Given the description of an element on the screen output the (x, y) to click on. 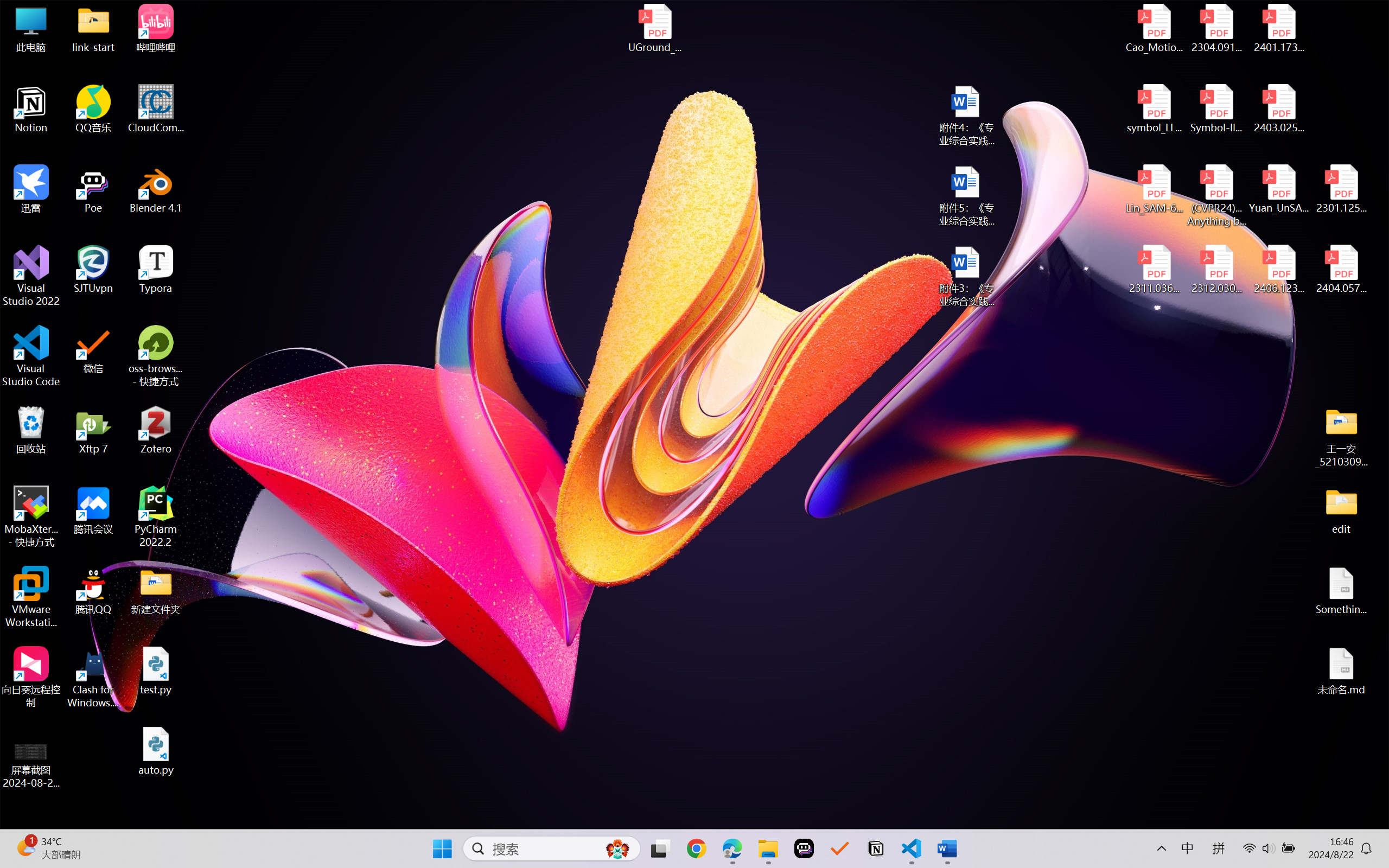
Visual Studio Code (31, 355)
2304.09121v3.pdf (1216, 28)
auto.py (156, 751)
2301.12597v3.pdf (1340, 189)
(CVPR24)Matching Anything by Segmenting Anything.pdf (1216, 195)
Google Chrome (696, 848)
Xftp 7 (93, 430)
Blender 4.1 (156, 189)
